Given the description of an element on the screen output the (x, y) to click on. 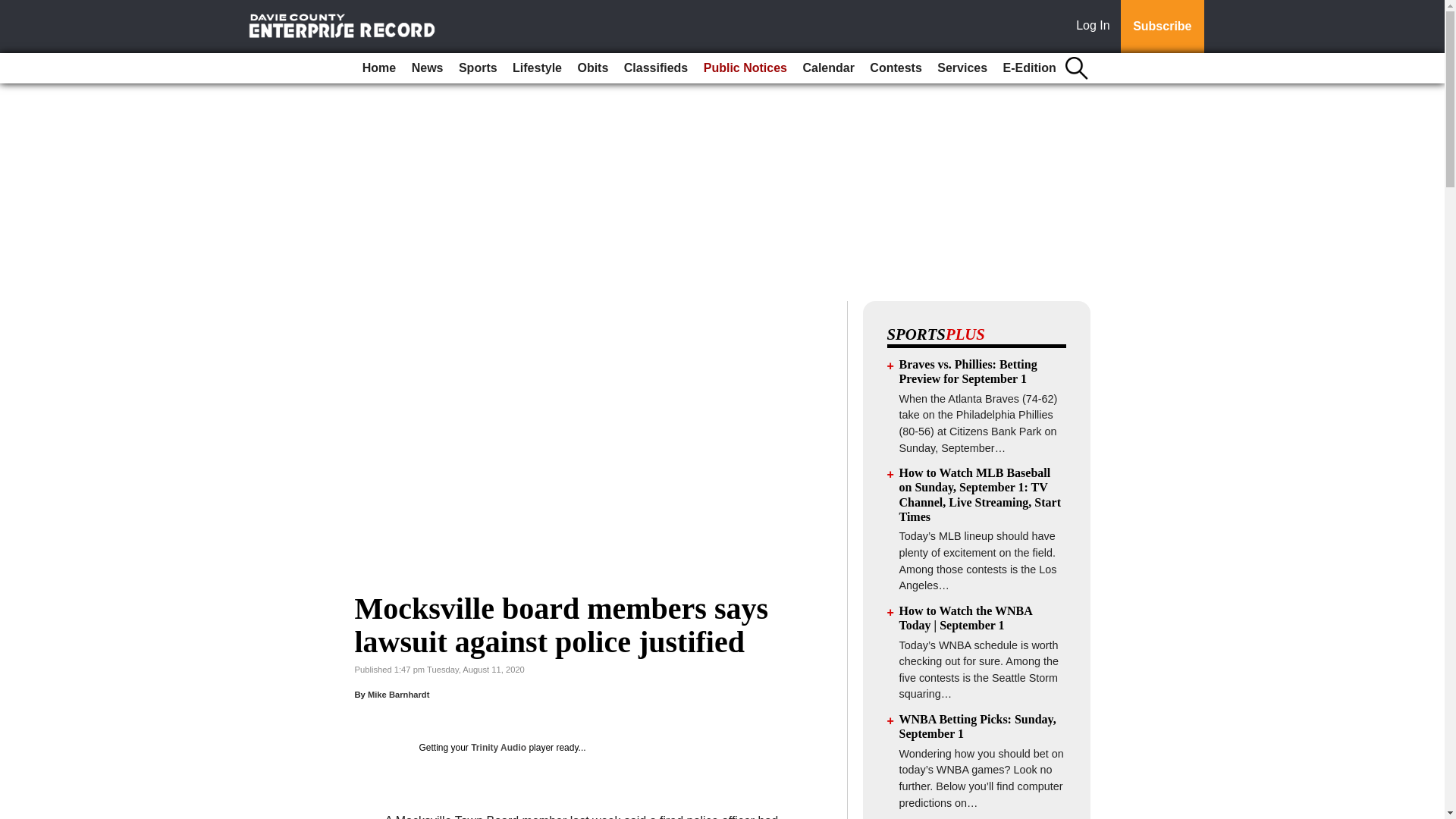
Services (961, 68)
Braves vs. Phillies: Betting Preview for September 1 (967, 370)
Home (378, 68)
Go (13, 9)
Public Notices (745, 68)
Trinity Audio (497, 747)
WNBA Betting Picks: Sunday, September 1 (978, 726)
Calendar (828, 68)
Mike Barnhardt (398, 694)
Lifestyle (536, 68)
